Given the description of an element on the screen output the (x, y) to click on. 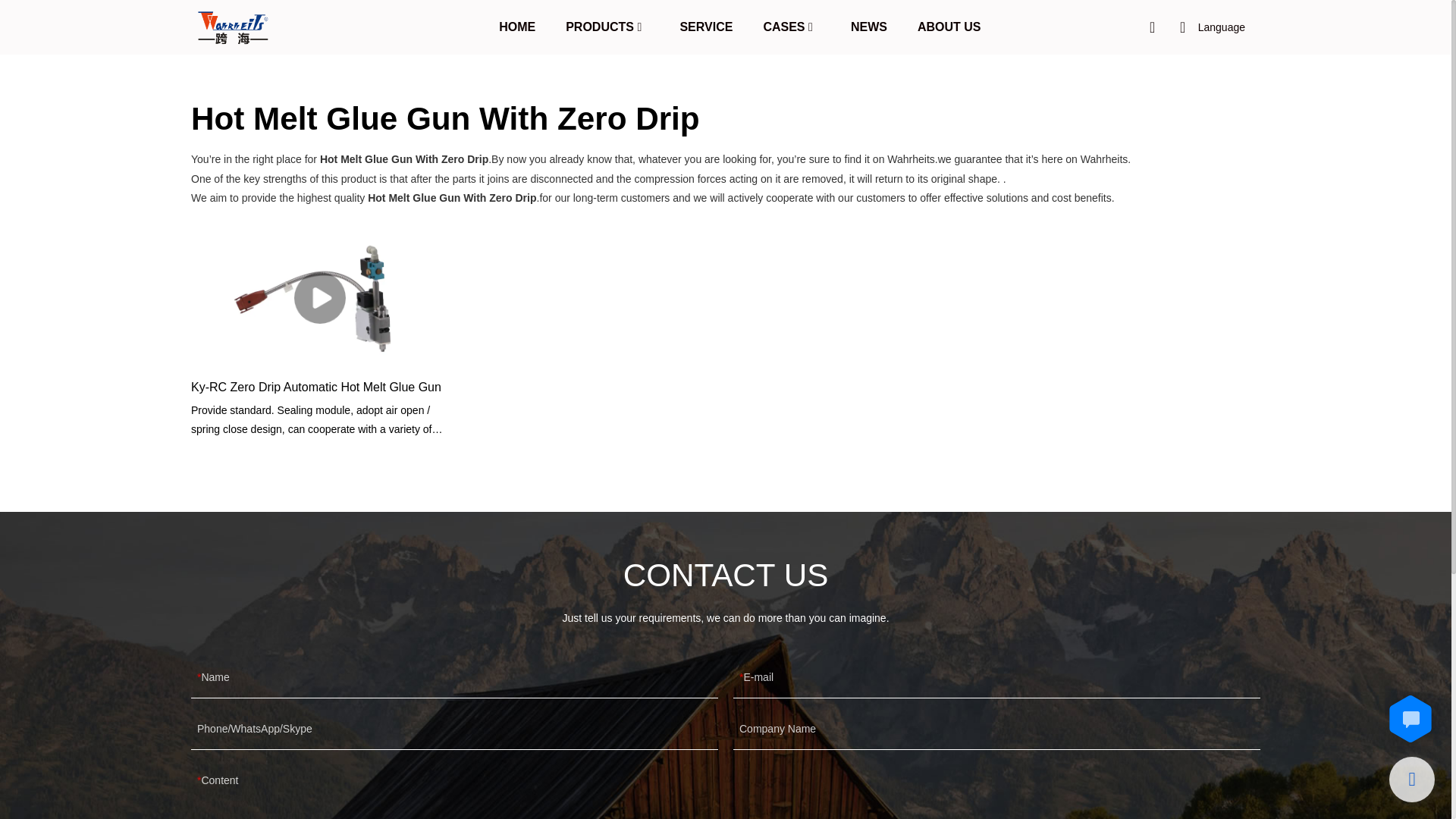
CASES (783, 26)
HOME (517, 26)
Ky-RC Zero Drip Automatic Hot Melt Glue Gun  (319, 387)
NEWS (868, 26)
PRODUCTS (599, 26)
ABOUT US (949, 26)
SERVICE (705, 26)
